Given the description of an element on the screen output the (x, y) to click on. 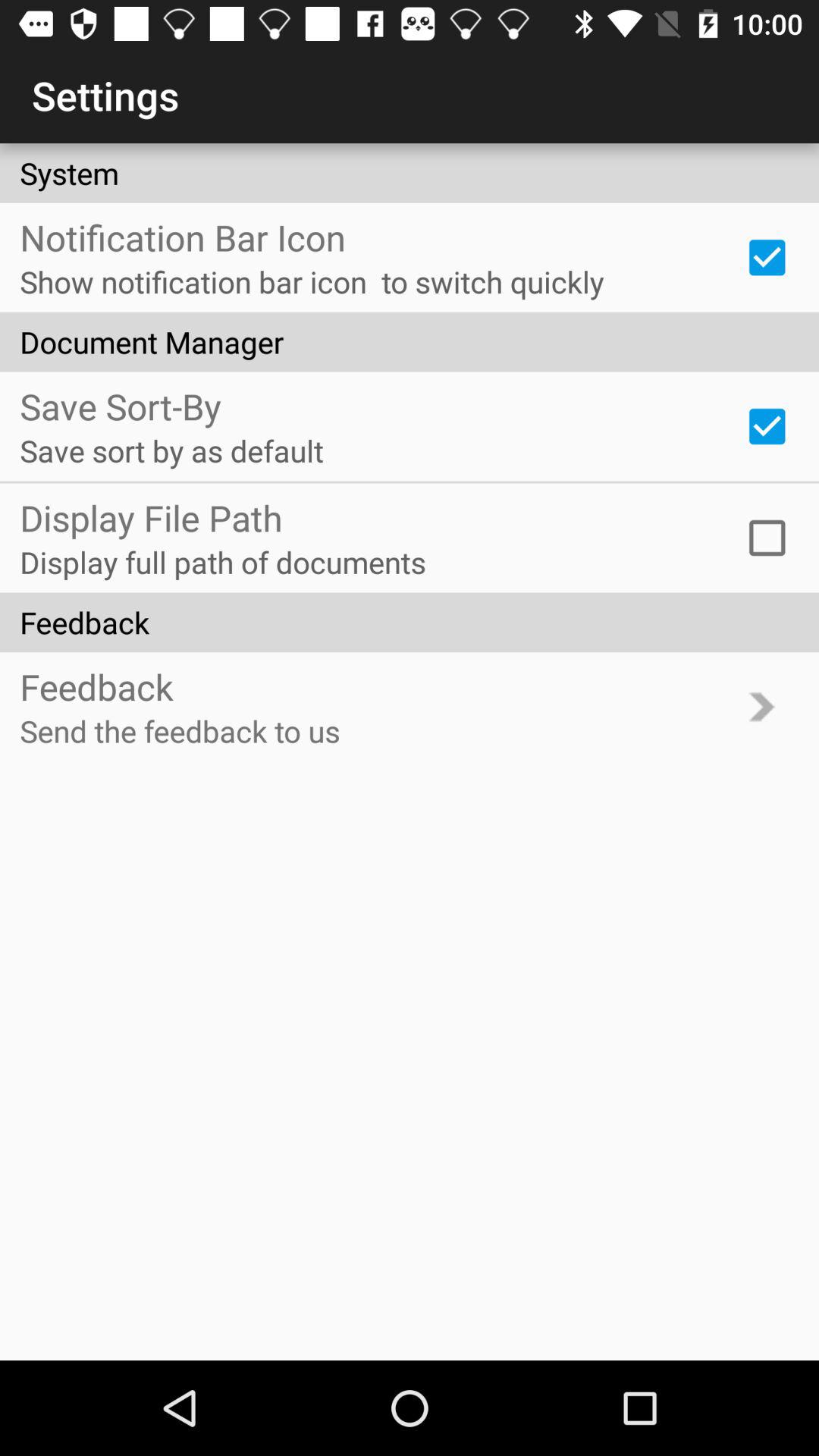
turn on icon next to the save sort by (767, 426)
